Given the description of an element on the screen output the (x, y) to click on. 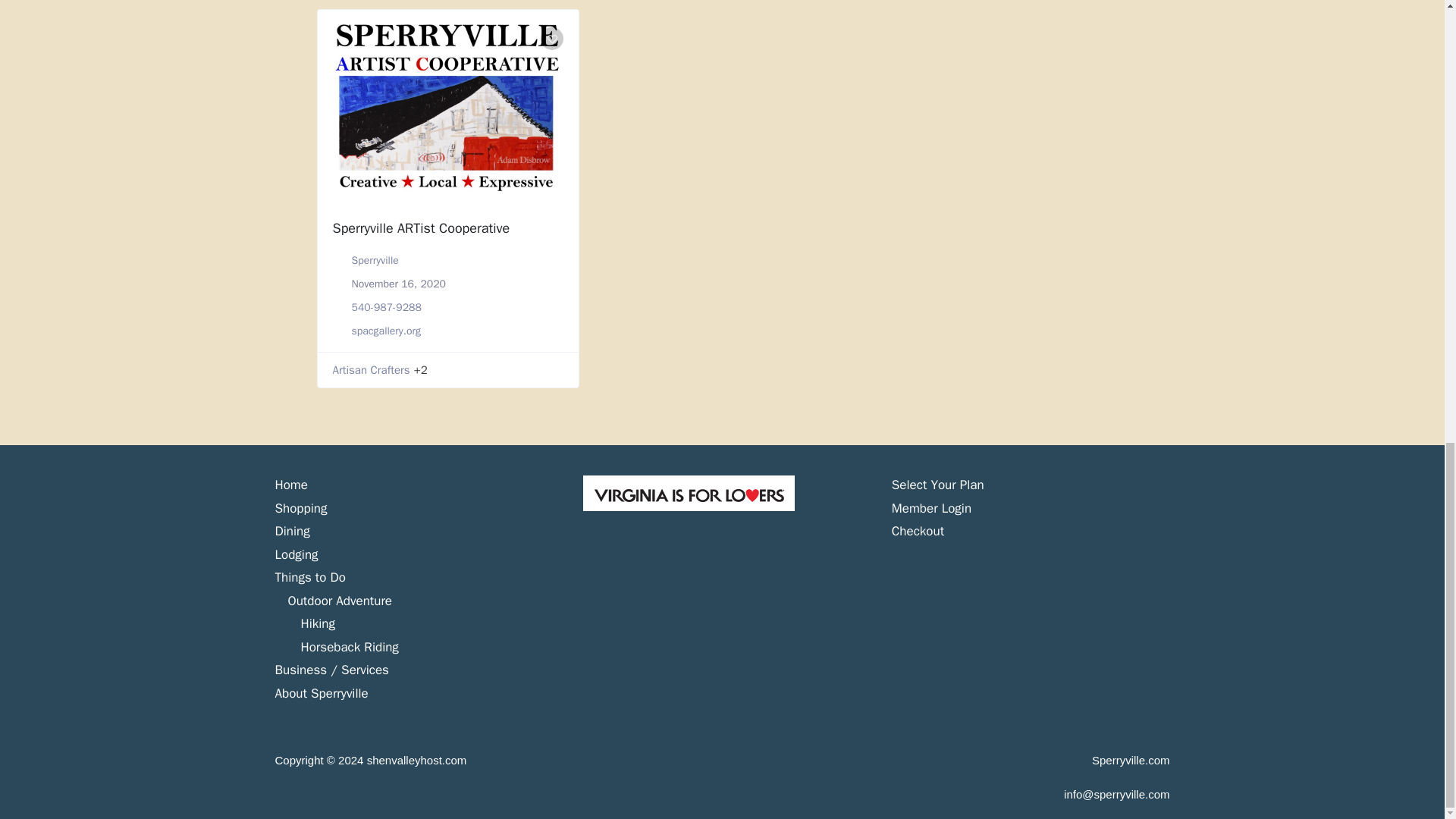
Scroll back to top (1406, 571)
Home (291, 484)
540-987-9288 (387, 307)
Shopping (300, 508)
Sperryville ARTist Cooperative (420, 228)
Sperryville (375, 259)
spacgallery.org (386, 330)
Artisan Crafters (370, 370)
